Given the description of an element on the screen output the (x, y) to click on. 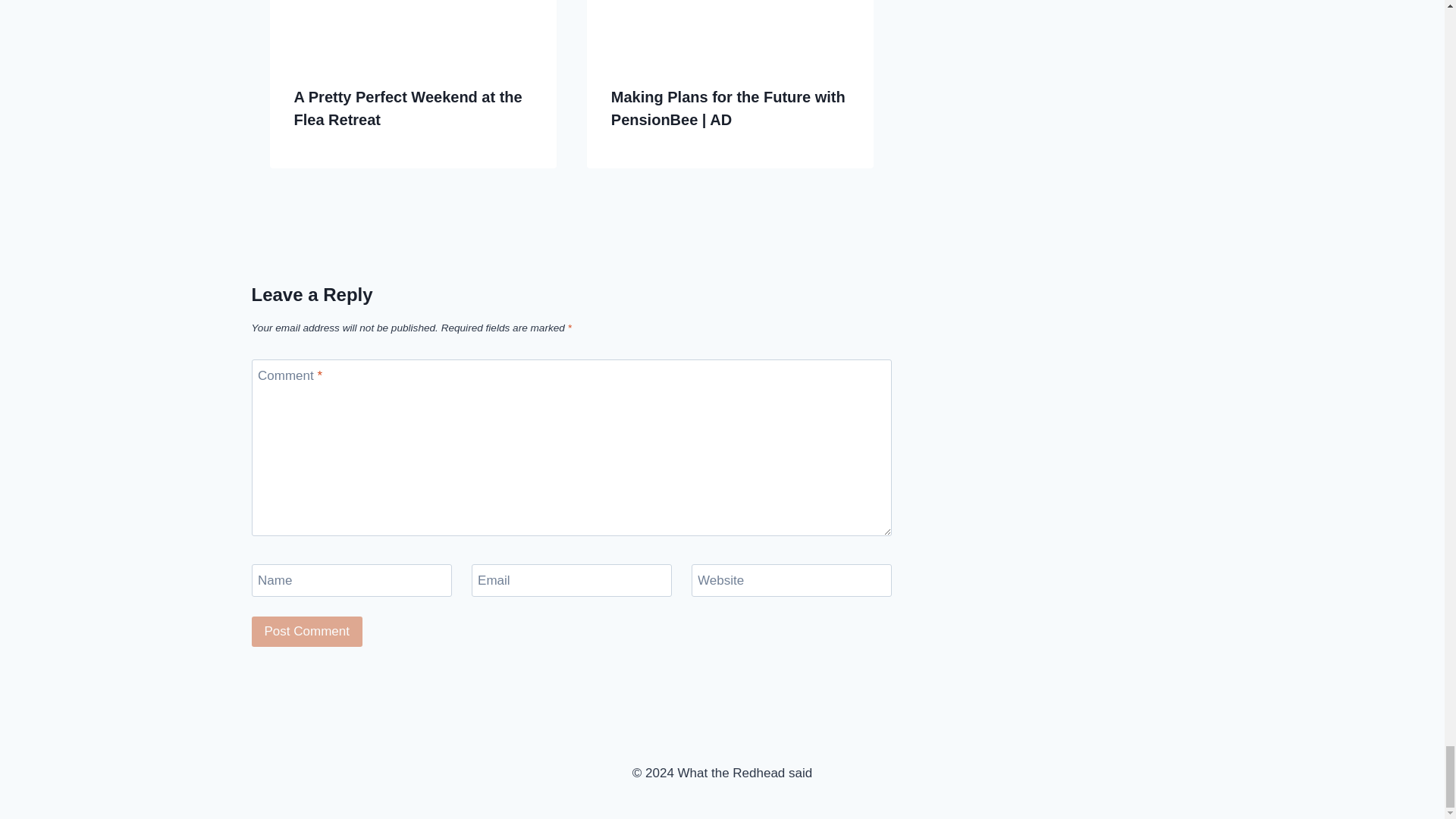
Post Comment (306, 631)
